Given the description of an element on the screen output the (x, y) to click on. 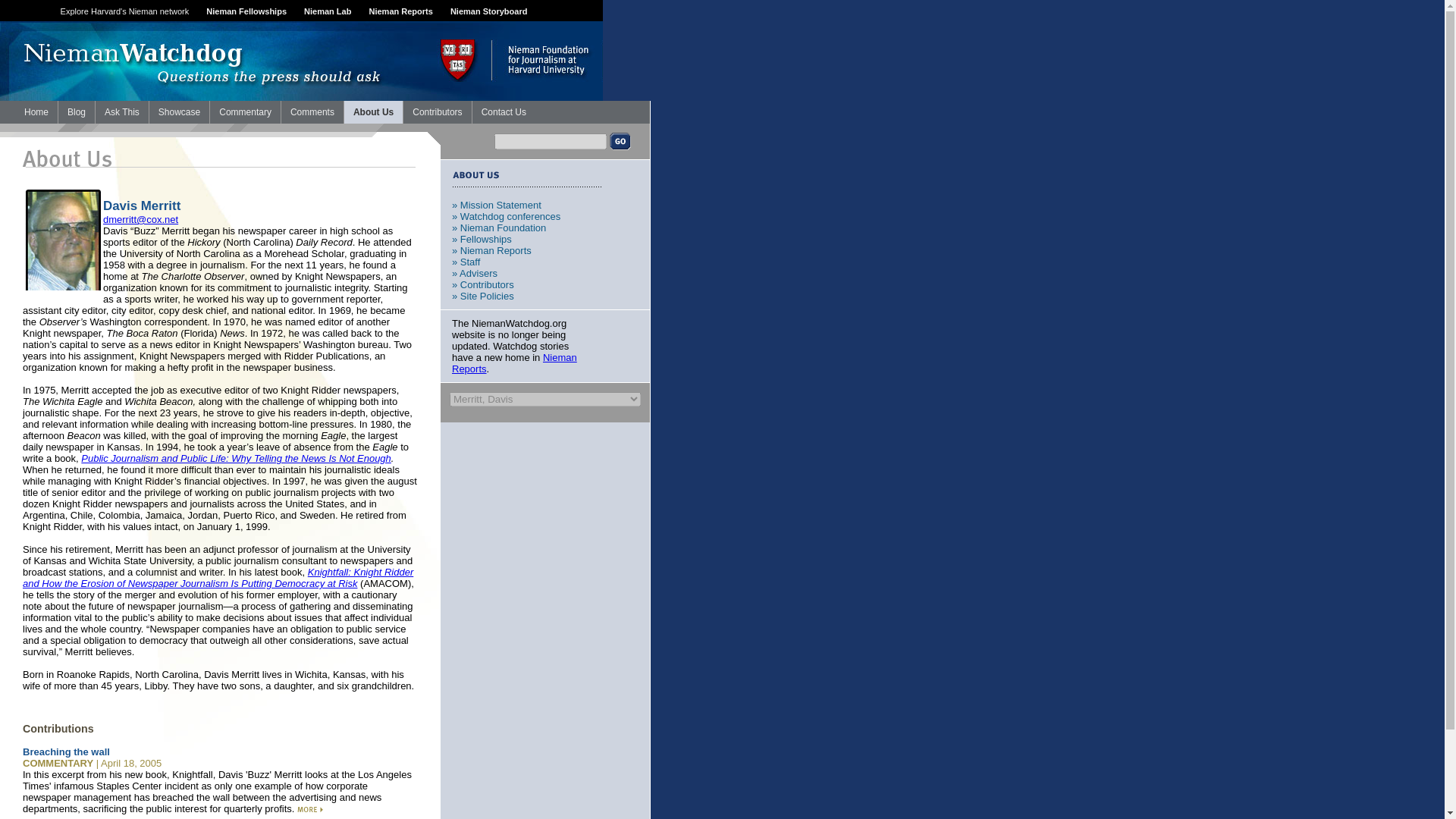
Breaching the wall (66, 751)
Nieman Storyboard (488, 10)
Commentary (245, 112)
Contributors (436, 112)
Ask This (122, 112)
Home (36, 112)
Explore Harvard's Nieman network (125, 10)
Nieman Fellowships (246, 10)
Contact Us (503, 112)
About Us (373, 112)
Nieman Reports (513, 363)
Nieman Lab (327, 10)
Showcase (179, 112)
Nieman Reports (400, 10)
